Given the description of an element on the screen output the (x, y) to click on. 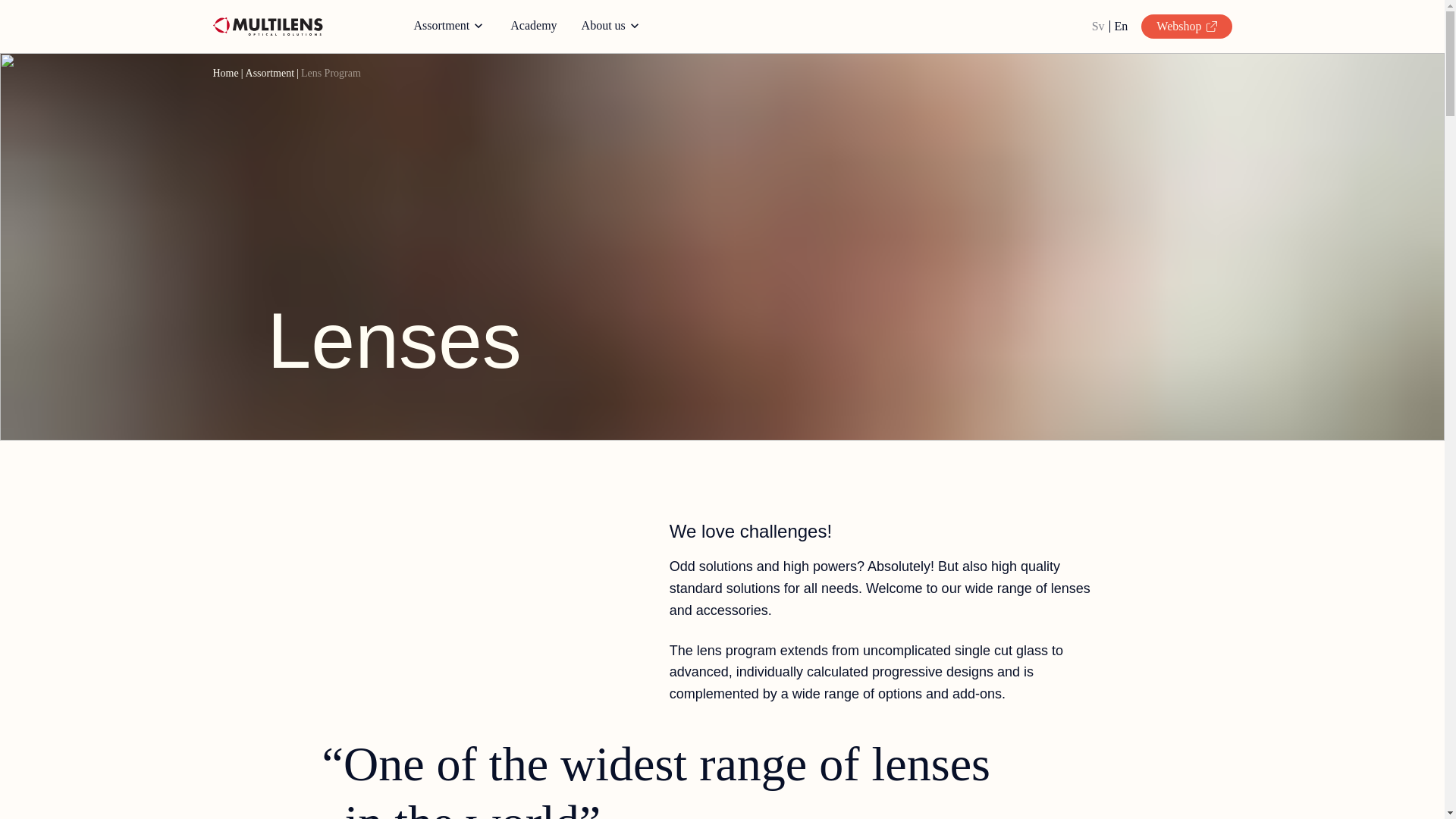
Sv (1098, 25)
Academy (533, 25)
Assortment (270, 72)
Webshop (1186, 26)
En (1121, 25)
Home (225, 72)
